Given the description of an element on the screen output the (x, y) to click on. 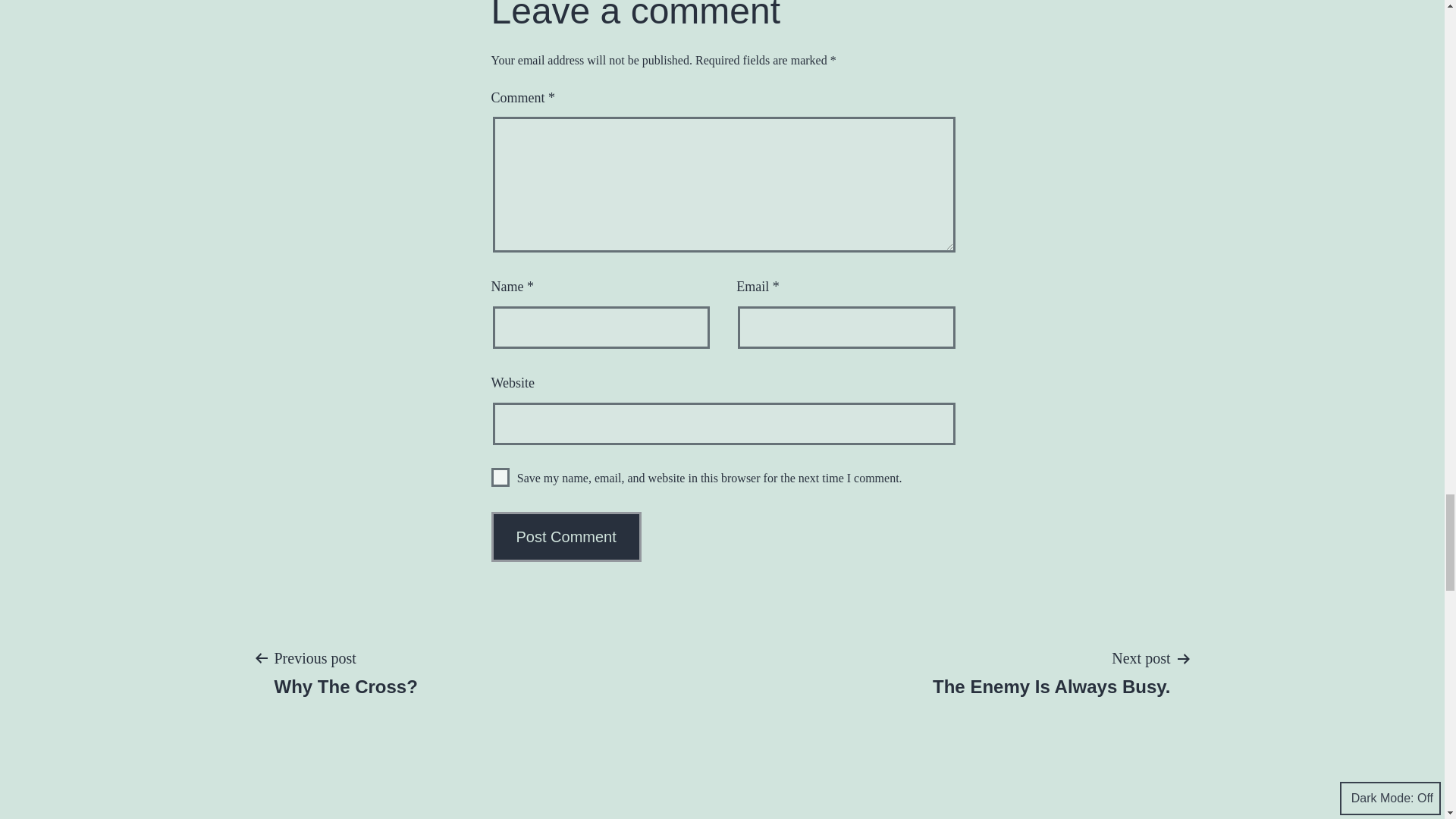
Post Comment (567, 536)
yes (1051, 671)
Post Comment (500, 476)
